Given the description of an element on the screen output the (x, y) to click on. 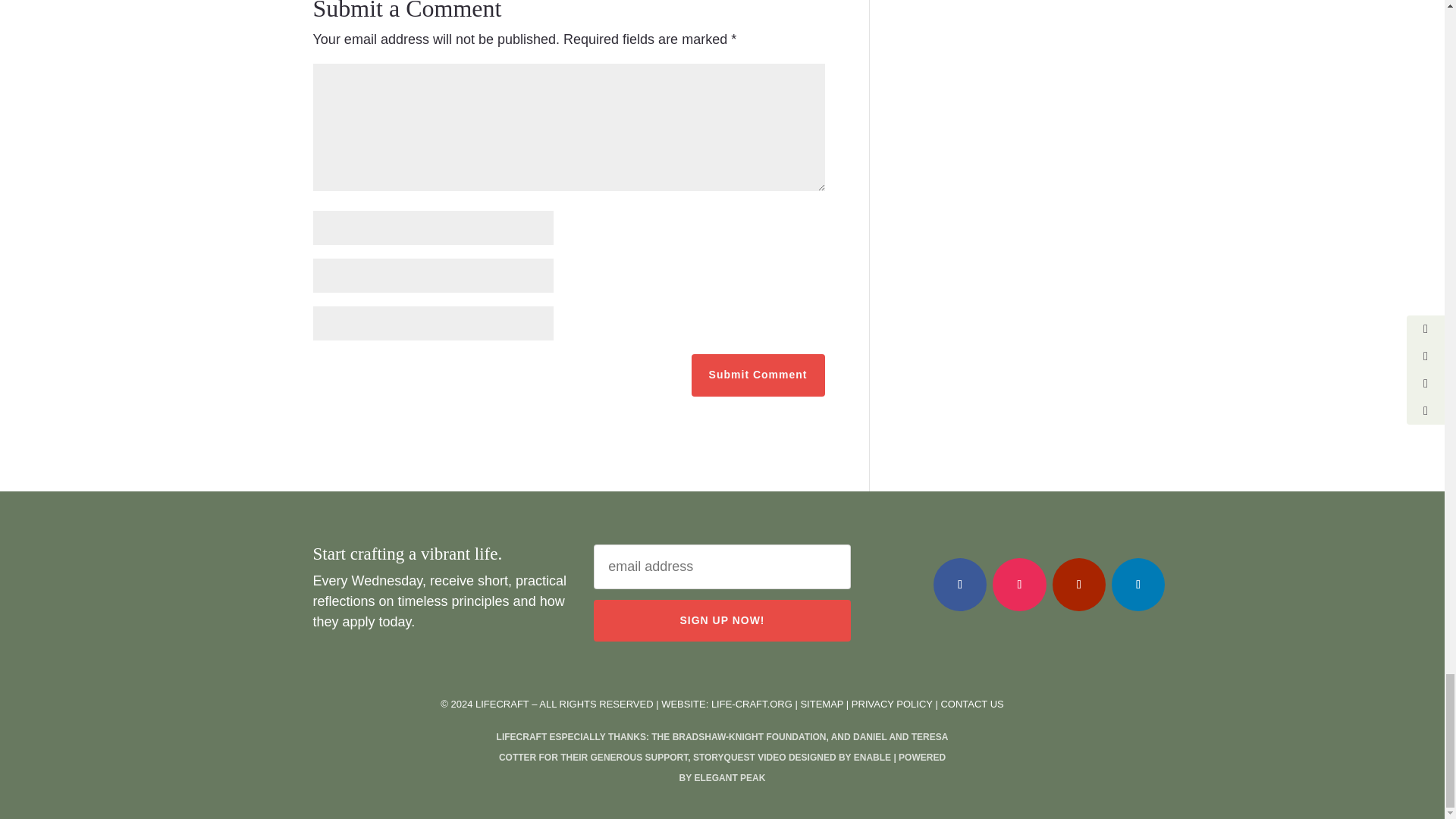
Submit Comment (758, 374)
Follow on LinkedIn (1138, 583)
SIGN UP NOW! (722, 620)
Follow on Facebook (960, 583)
Follow on Instagram (1018, 583)
Follow on Youtube (1078, 583)
